Given the description of an element on the screen output the (x, y) to click on. 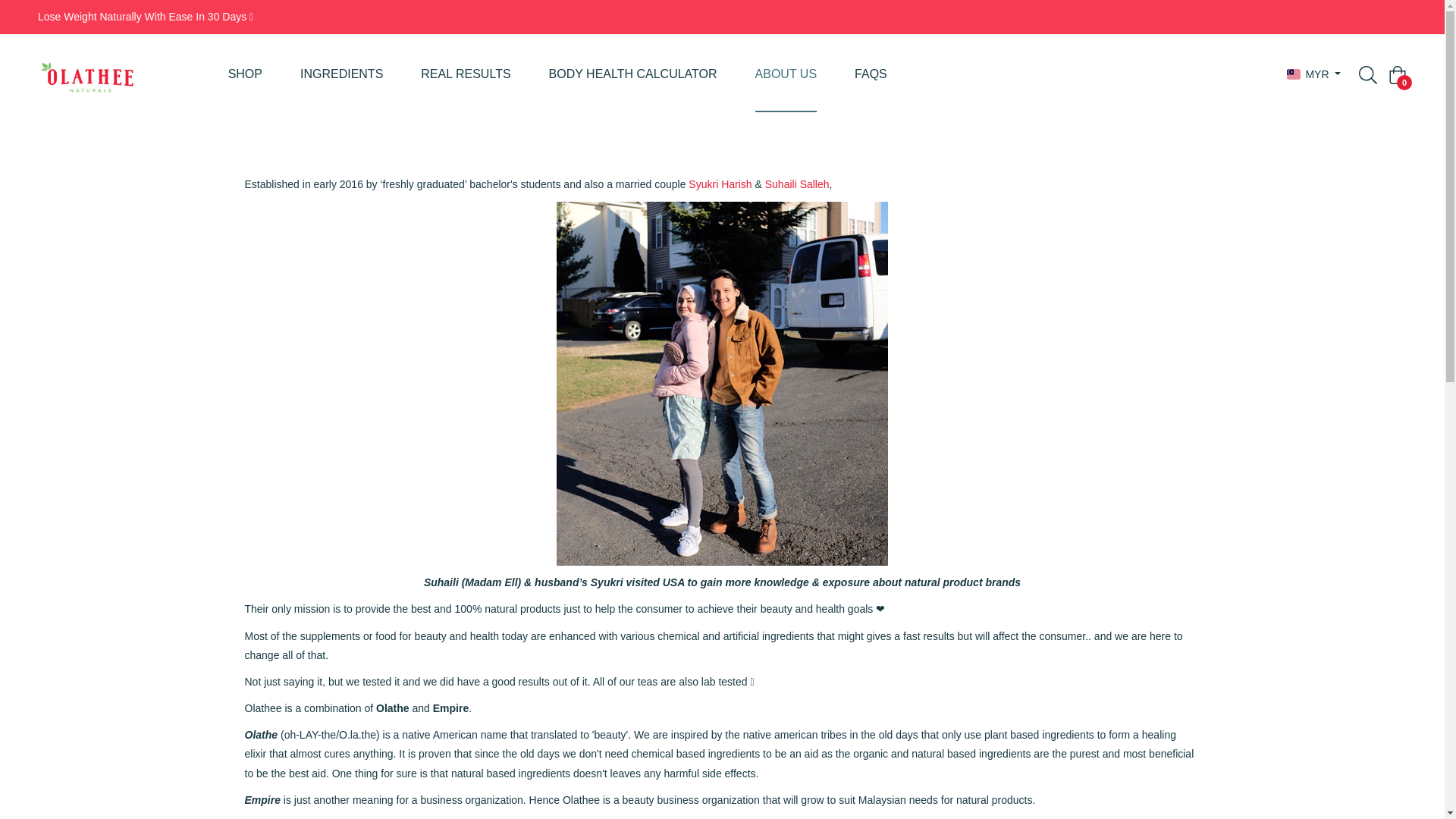
Currencies (1313, 74)
Syukri Harish (719, 184)
Shopping Cart (1397, 75)
REAL RESULTS (465, 74)
BODY HEALTH CALCULATOR (632, 74)
Suhaili Salleh (797, 184)
INGREDIENTS (341, 74)
SHOP (245, 74)
ABOUT US (785, 74)
